Given the description of an element on the screen output the (x, y) to click on. 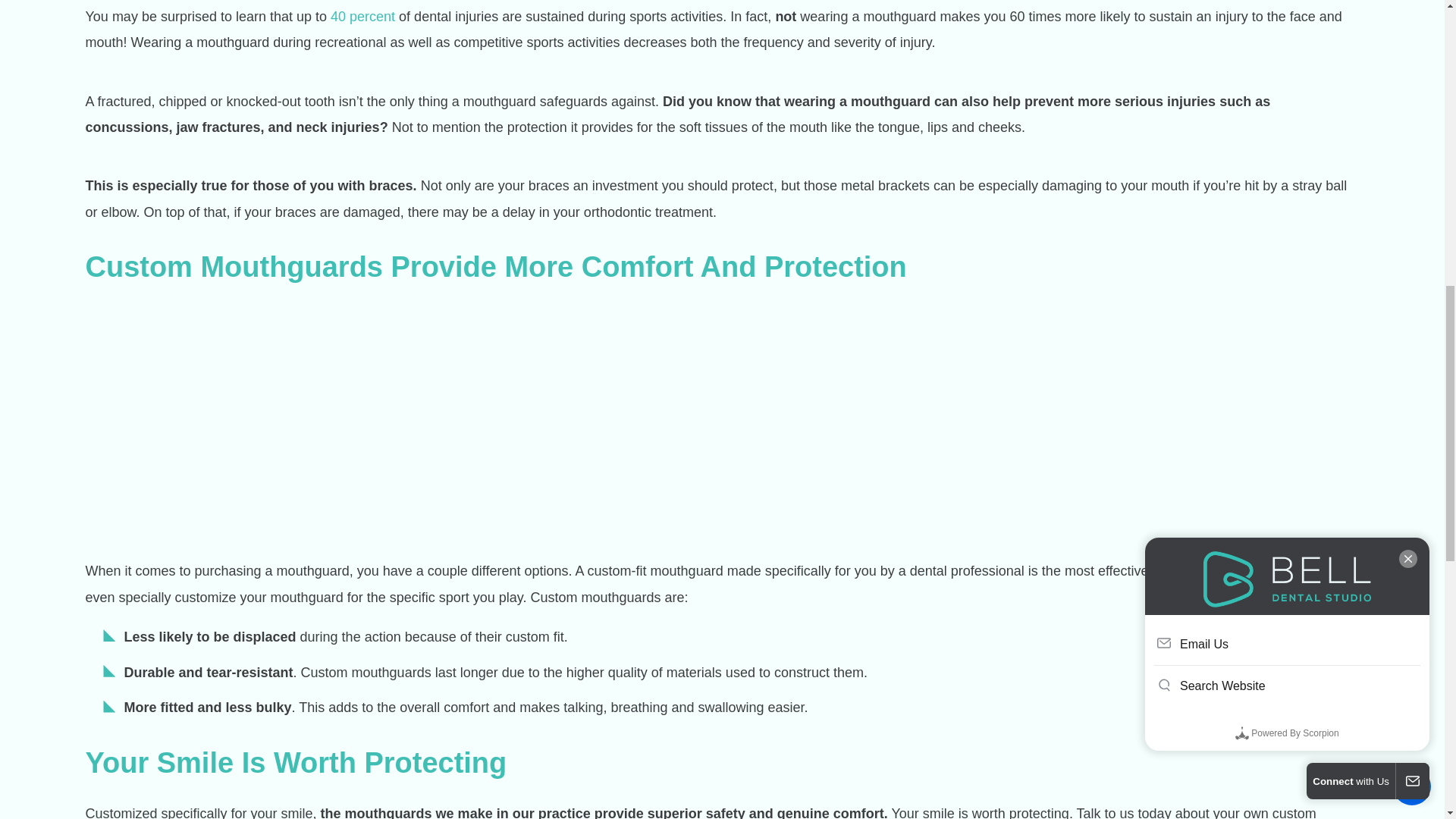
YouTube video player (290, 420)
